Given the description of an element on the screen output the (x, y) to click on. 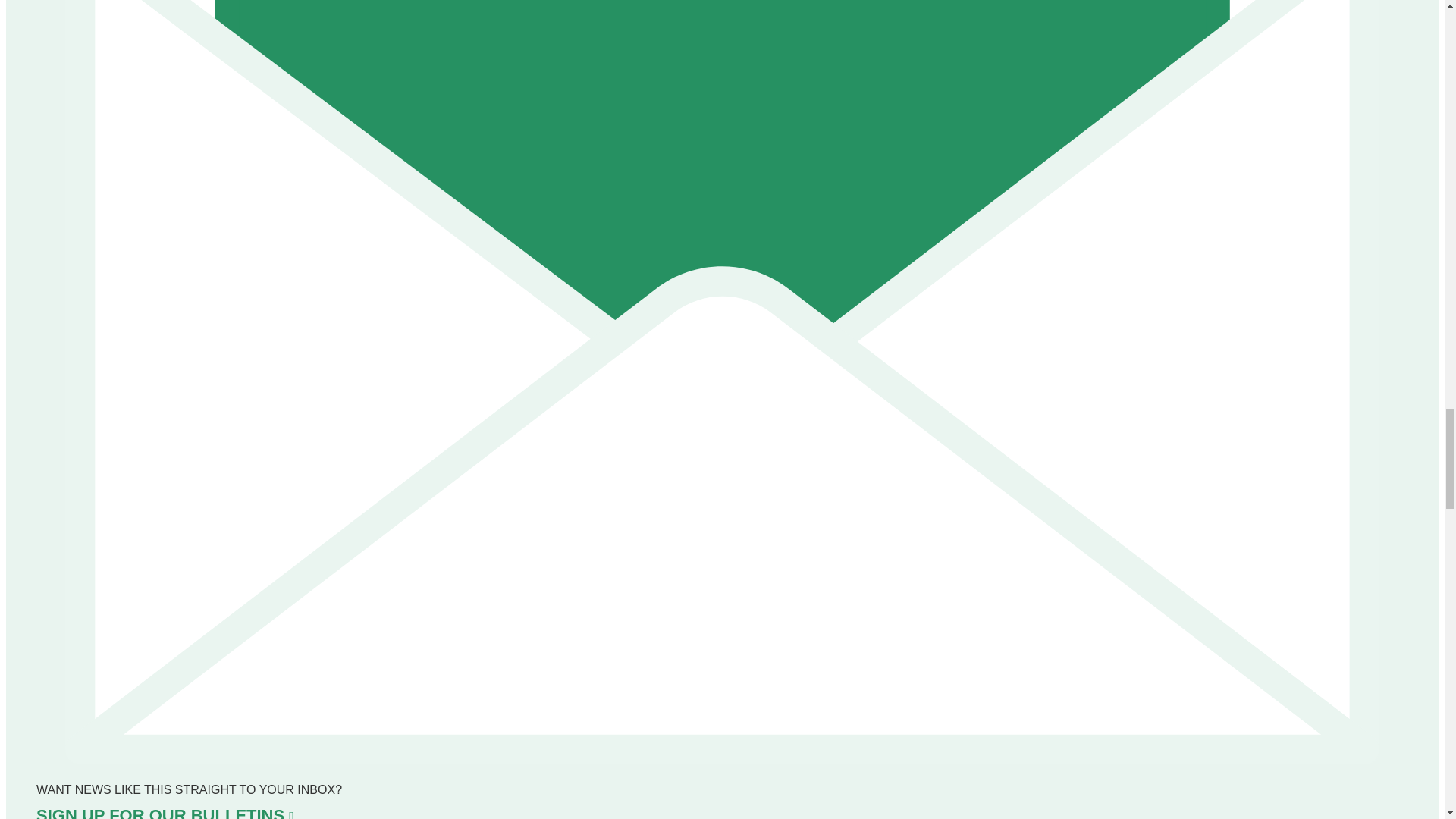
Sign up for our bulletins (165, 812)
